Given the description of an element on the screen output the (x, y) to click on. 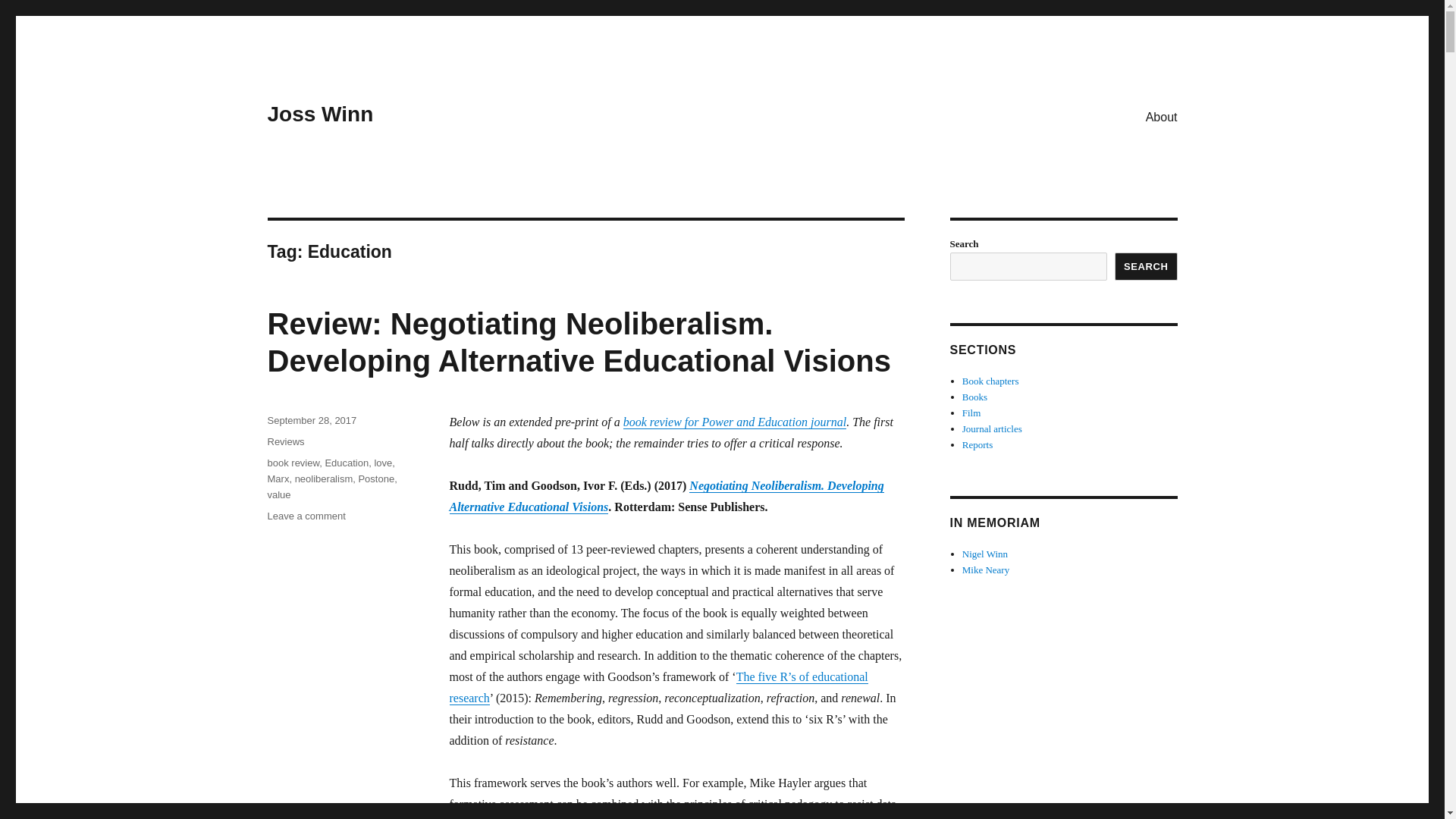
value (277, 494)
Joss Winn (319, 114)
Education (346, 462)
September 28, 2017 (311, 419)
love (382, 462)
Postone (376, 478)
Reviews (285, 441)
About (1161, 116)
book review (292, 462)
book review for Power and Education journal (734, 421)
neoliberalism (324, 478)
Marx (277, 478)
